Given the description of an element on the screen output the (x, y) to click on. 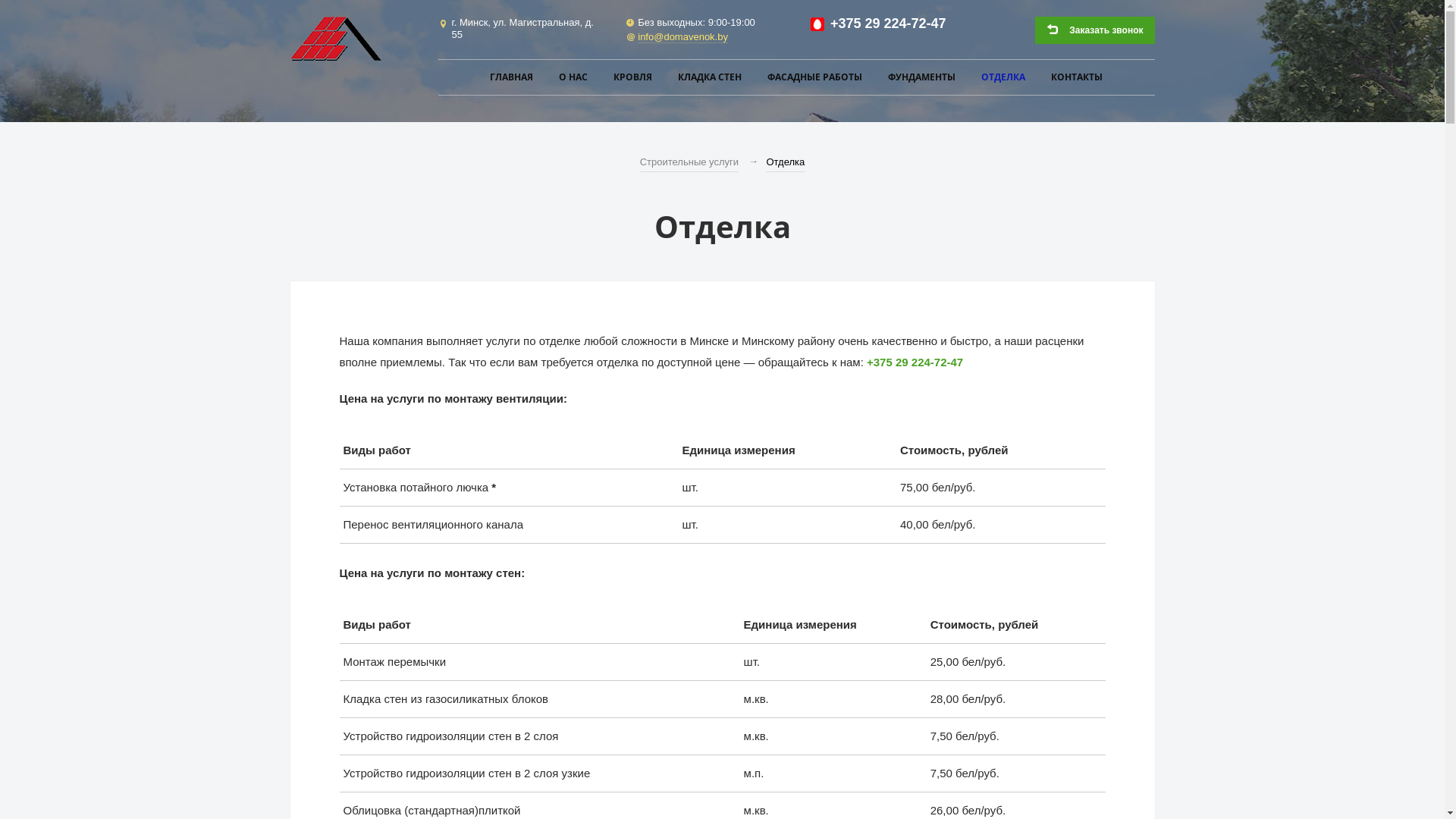
+375 29 224-72-47 Element type: text (914, 361)
+375 29 224-72-47 Element type: text (888, 23)
info@domavenok.by Element type: text (682, 37)
